Given the description of an element on the screen output the (x, y) to click on. 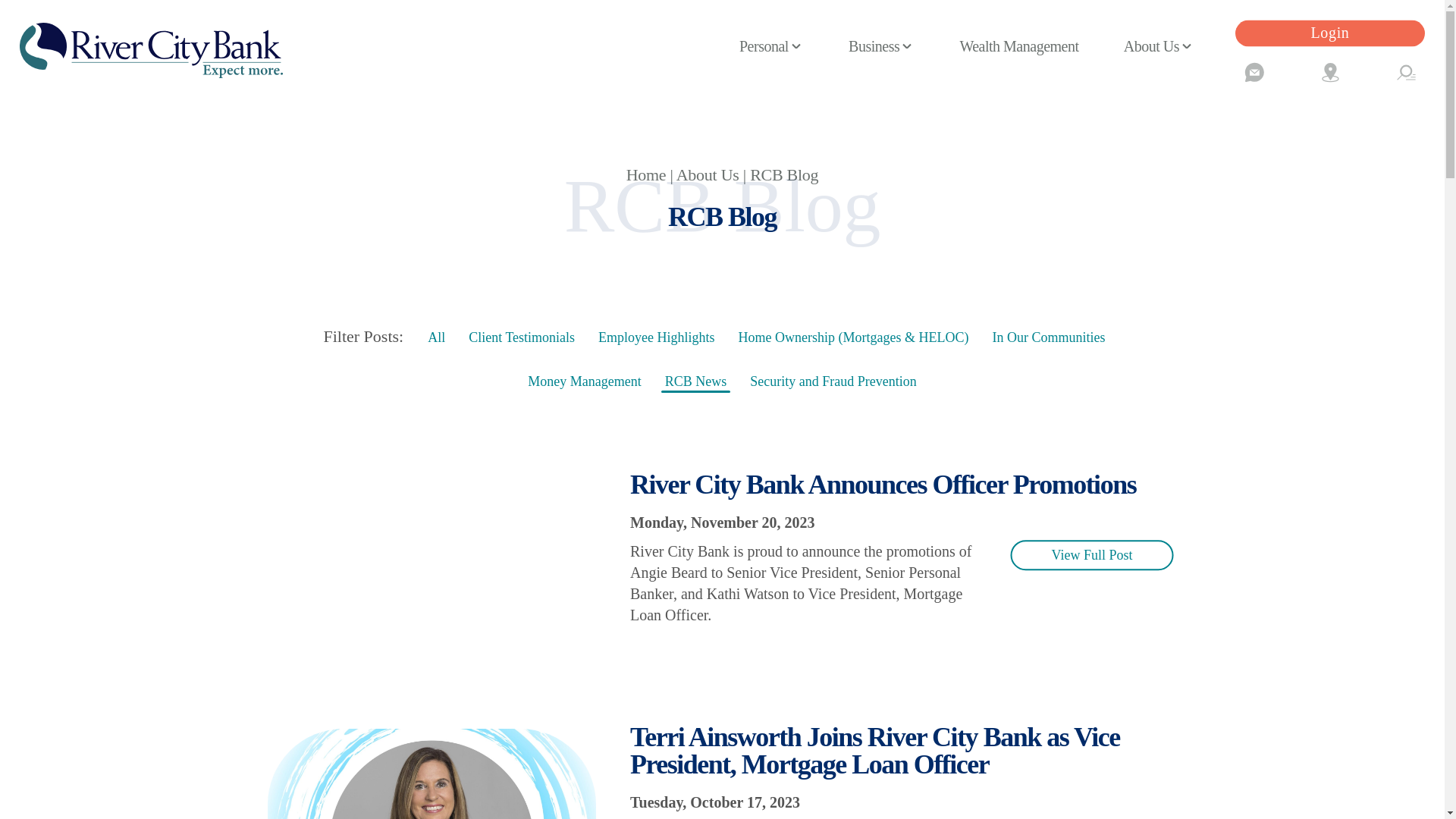
Personal Element type: text (771, 45)
Employee Highlights Element type: text (656, 337)
RCB News Element type: text (695, 381)
About Us Element type: text (707, 174)
Wealth Management Element type: text (1018, 45)
Business Element type: text (881, 45)
Client Testimonials Element type: text (521, 337)
About Us Element type: text (1158, 45)
View Full Post
 for Element type: text (1091, 555)
Contact Us Element type: text (1254, 72)
All Element type: text (436, 337)
Money Management Element type: text (584, 381)
OPEN SEARCH MENU Element type: text (1405, 72)
Login Element type: text (1329, 32)
Home Element type: text (646, 174)
Security and Fraud Prevention Element type: text (832, 381)
Locations Element type: text (1330, 72)
Home Ownership (Mortgages & HELOC) Element type: text (853, 337)
In Our Communities Element type: text (1048, 337)
